Given the description of an element on the screen output the (x, y) to click on. 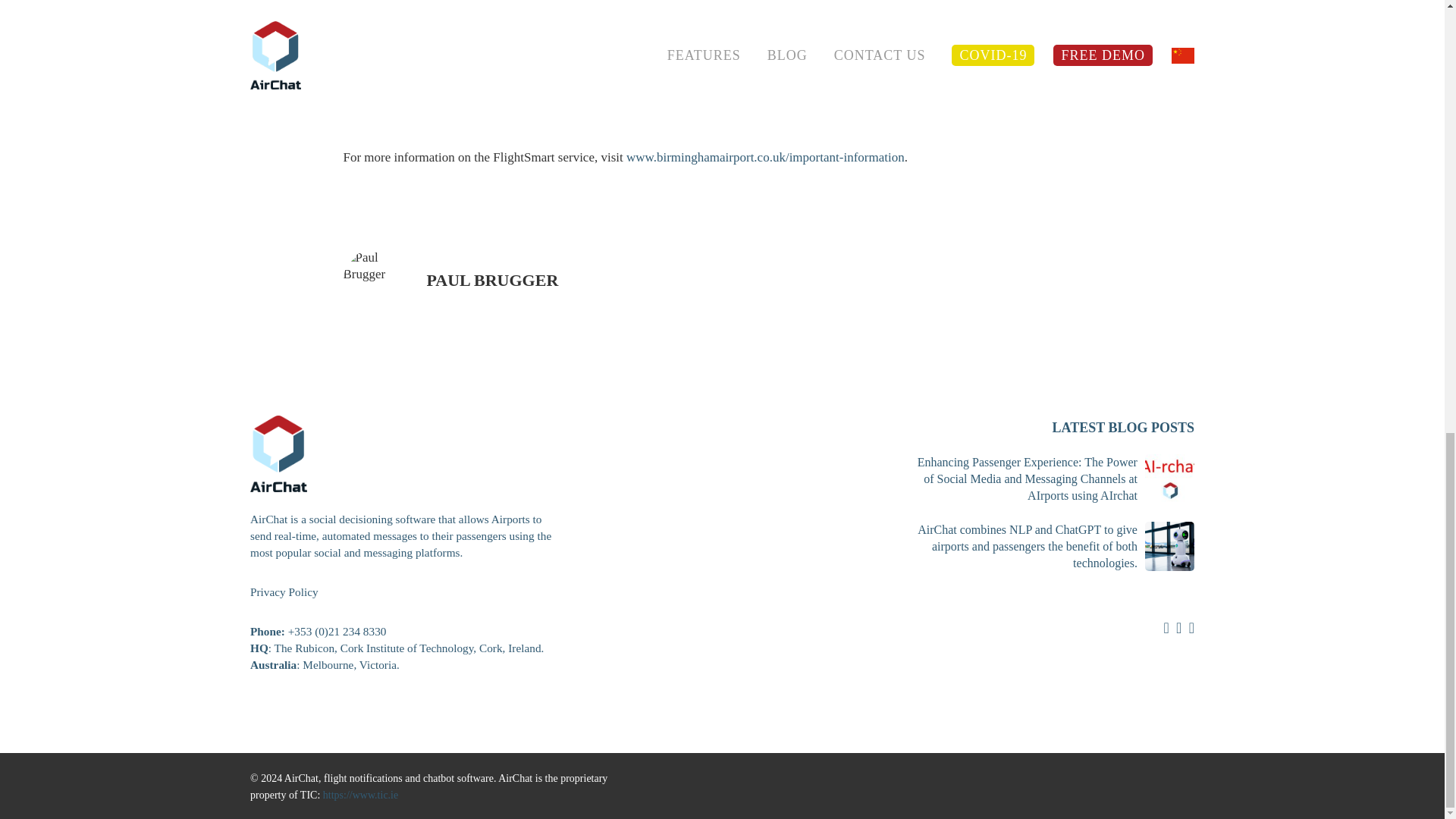
PAUL BRUGGER (491, 280)
Privacy Policy (284, 591)
